Given the description of an element on the screen output the (x, y) to click on. 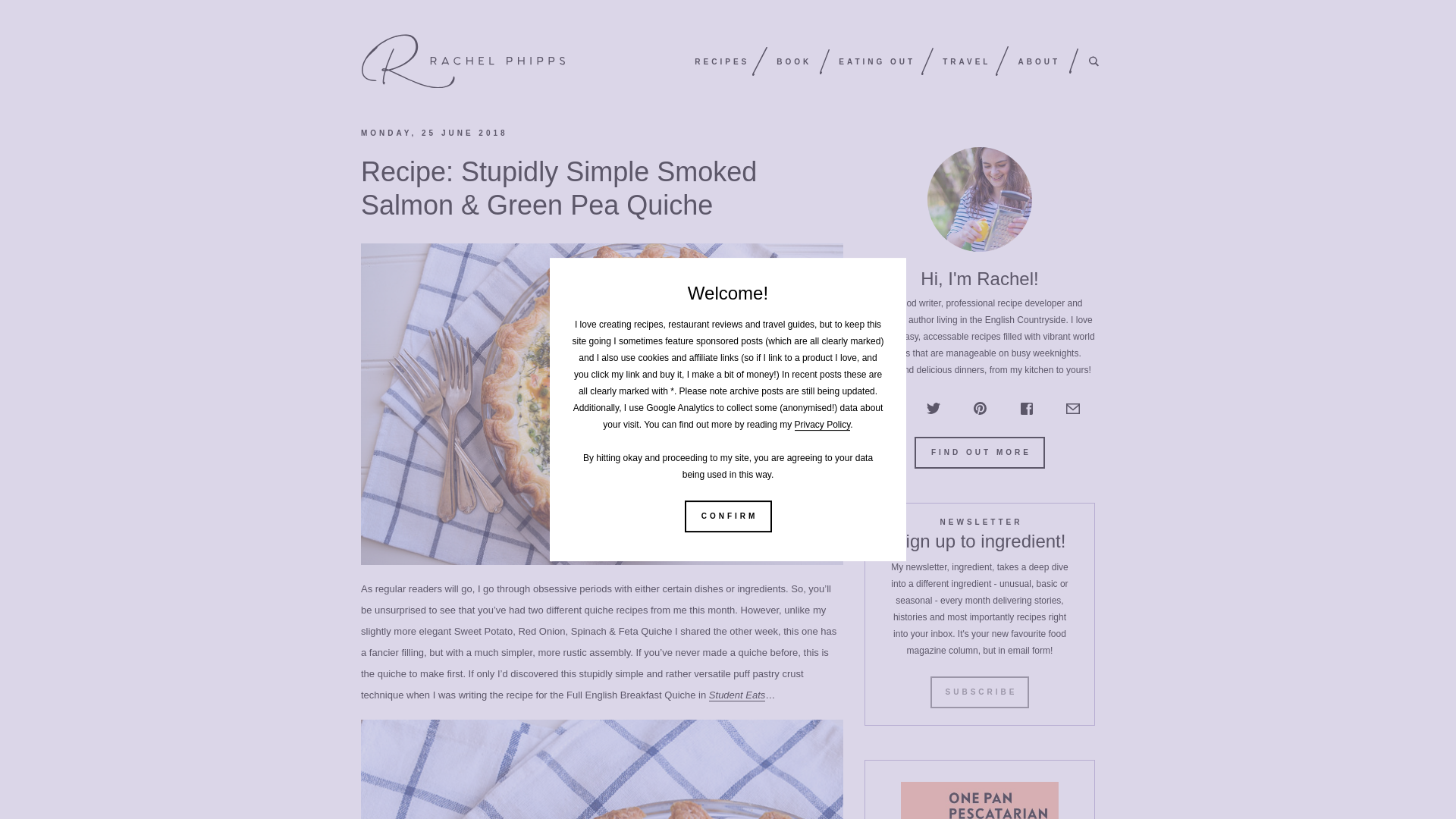
CONFIRM (727, 516)
BOOK (793, 61)
ABOUT (1038, 61)
Privacy Policy (822, 424)
TRAVEL (966, 61)
EATING OUT (876, 61)
RECIPES (721, 61)
